Given the description of an element on the screen output the (x, y) to click on. 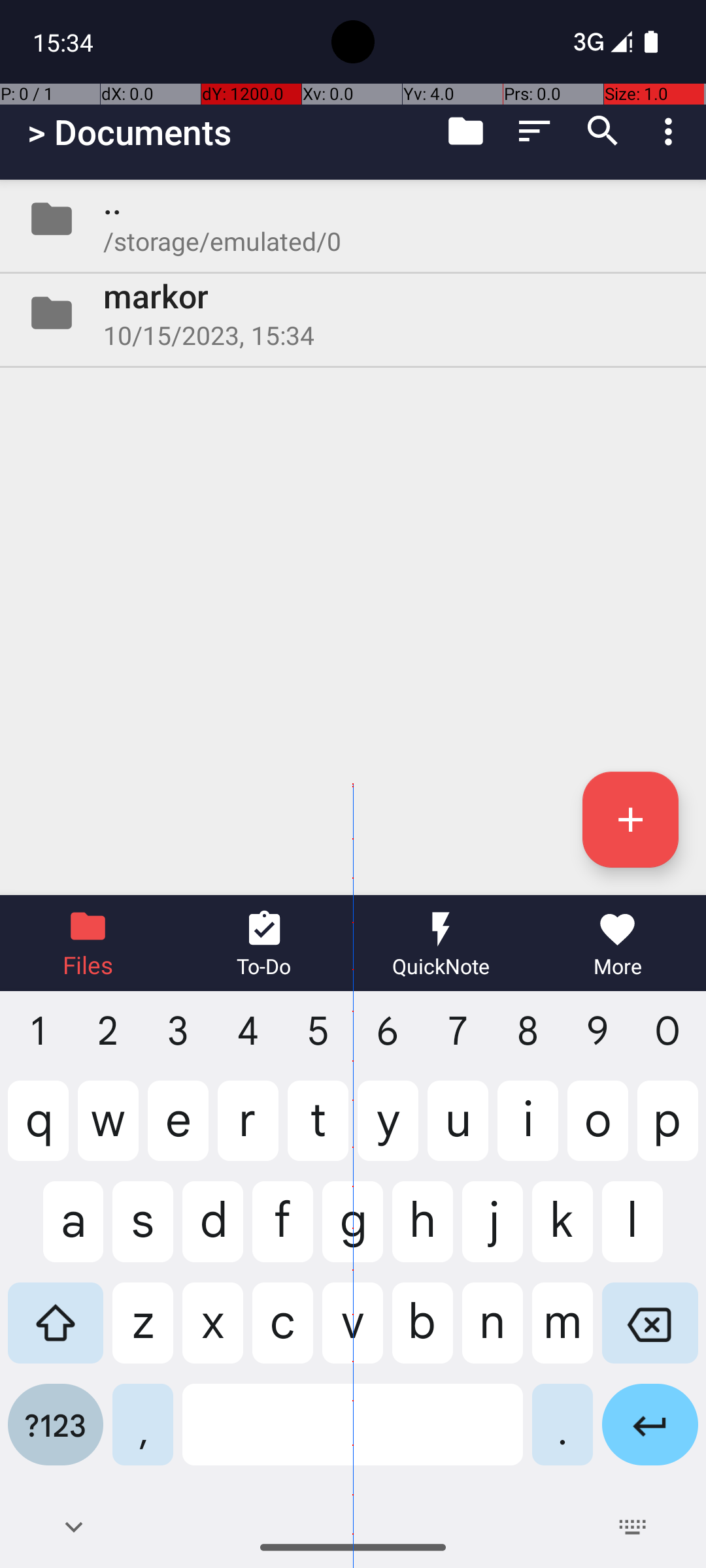
Folder markor  Element type: android.widget.LinearLayout (353, 312)
